Given the description of an element on the screen output the (x, y) to click on. 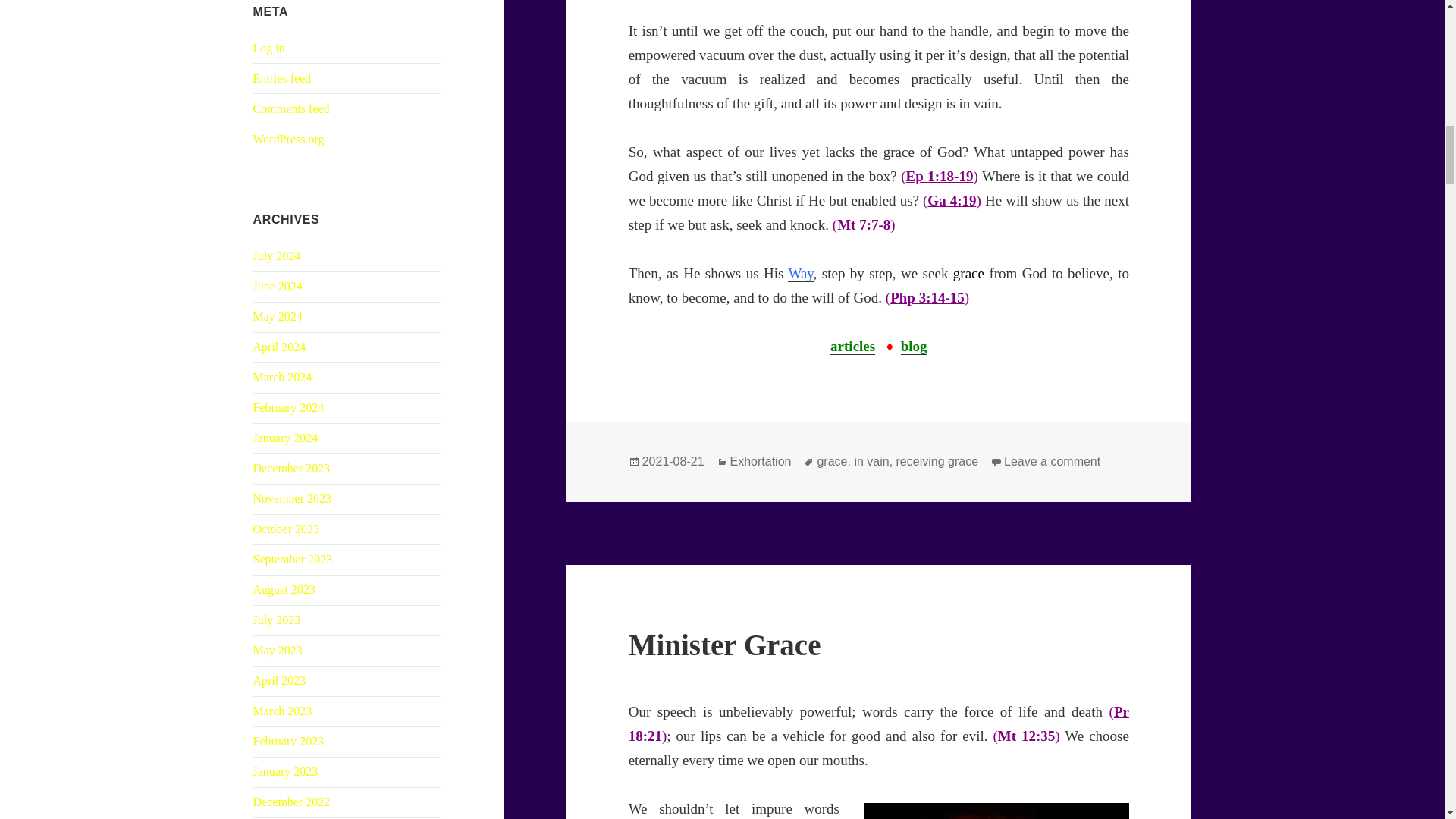
WordPress.org (288, 138)
July 2024 (277, 255)
Entries feed (282, 78)
Comments feed (291, 108)
June 2024 (277, 286)
May 2024 (277, 316)
Log in (269, 47)
